Given the description of an element on the screen output the (x, y) to click on. 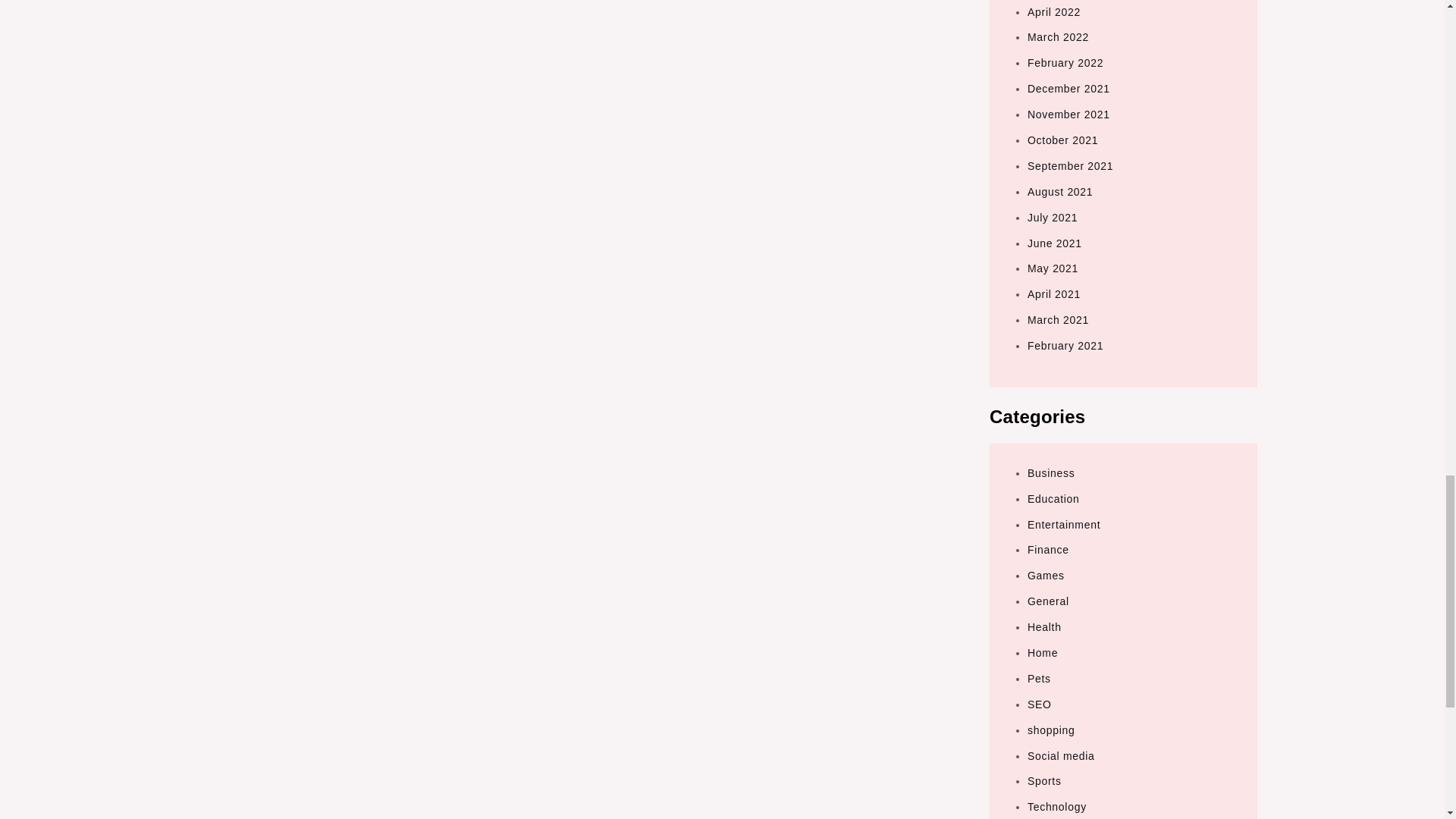
November 2021 (1068, 114)
February 2022 (1065, 62)
December 2021 (1068, 88)
April 2022 (1053, 11)
March 2022 (1058, 37)
